Given the description of an element on the screen output the (x, y) to click on. 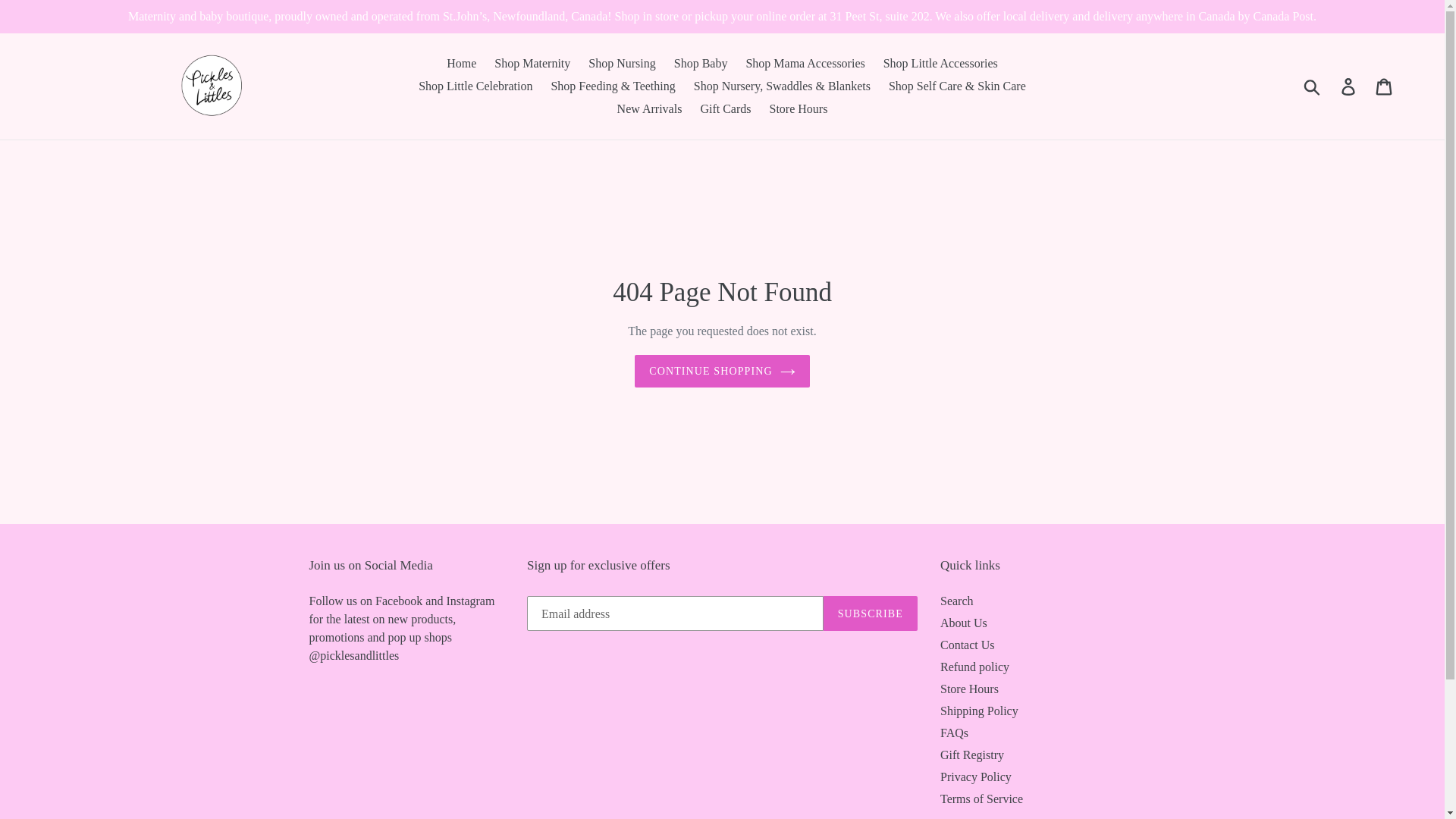
Gift Cards (725, 108)
Shop Maternity (532, 63)
CONTINUE SHOPPING (721, 370)
Shop Mama Accessories (805, 63)
Home (461, 63)
Shop Nursing (621, 63)
Store Hours (797, 108)
Cart (1385, 86)
Submit (1313, 86)
New Arrivals (650, 108)
